Given the description of an element on the screen output the (x, y) to click on. 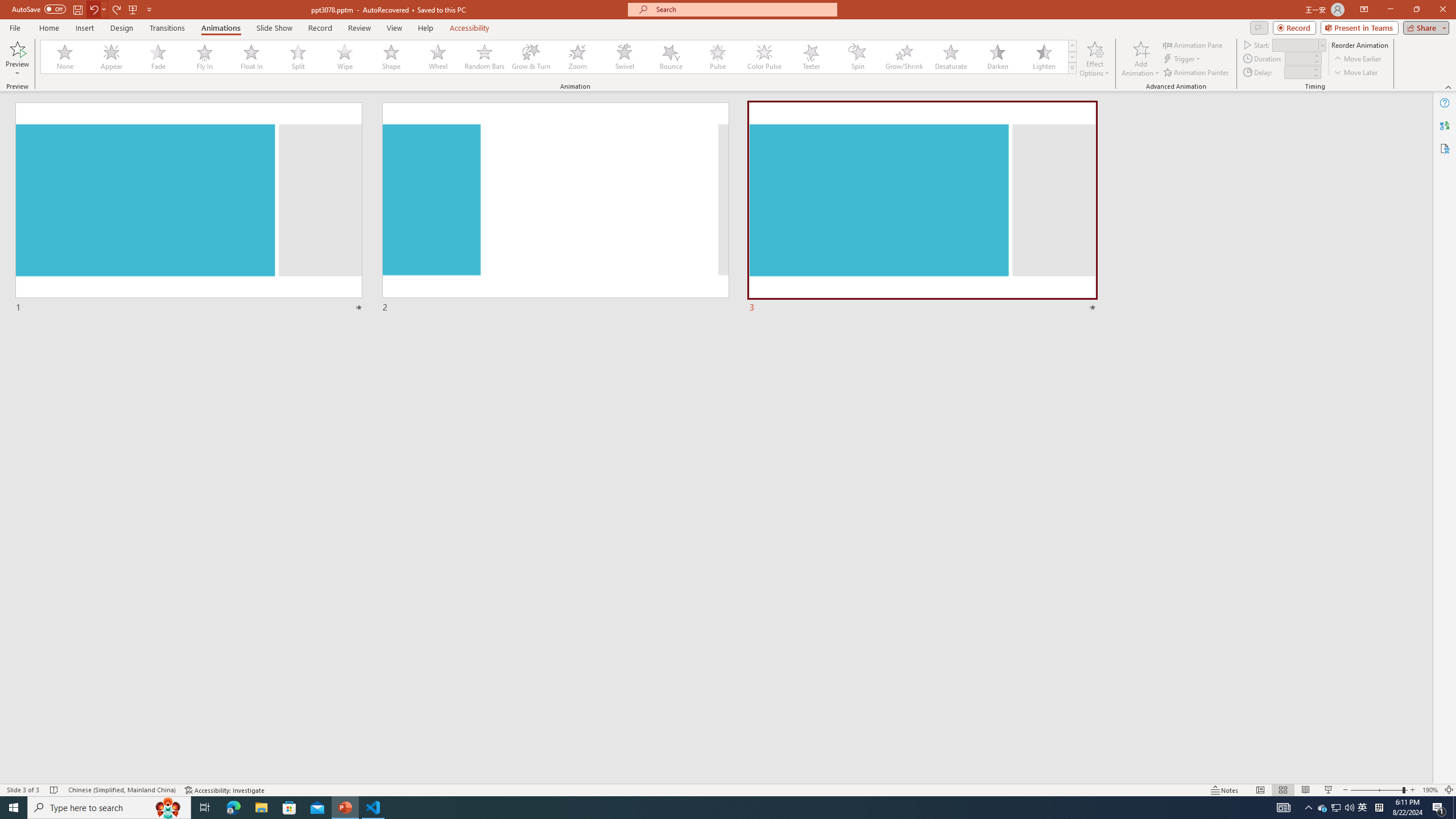
Pulse (717, 56)
Lighten (1043, 56)
Darken (997, 56)
Teeter (810, 56)
